Given the description of an element on the screen output the (x, y) to click on. 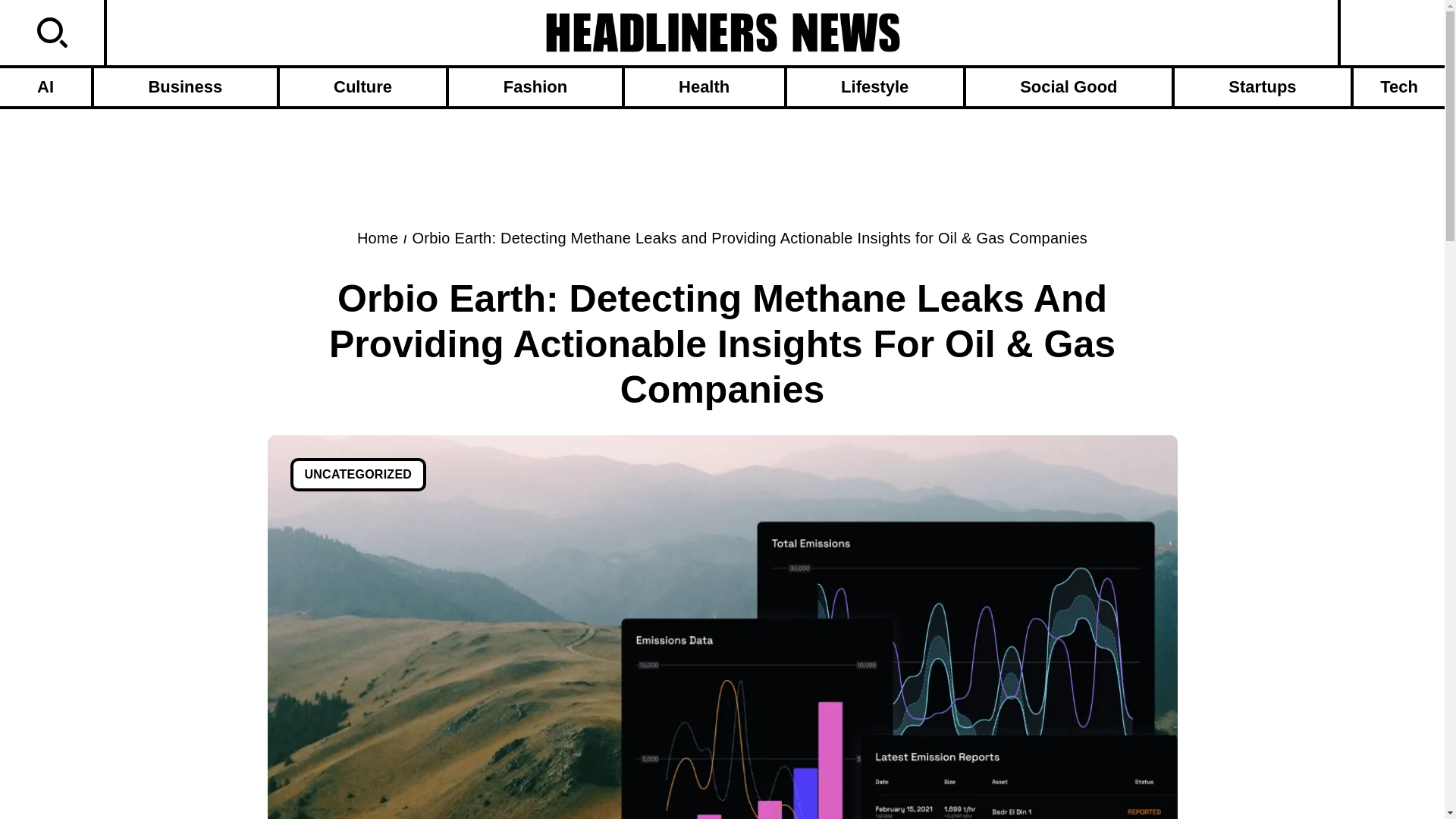
Social Good (1069, 86)
Home (376, 238)
Fashion (534, 86)
Culture (362, 86)
Home (376, 238)
AI (45, 86)
Health (704, 86)
UNCATEGORIZED (357, 474)
Startups (1262, 86)
Business (185, 86)
Lifestyle (874, 86)
